Given the description of an element on the screen output the (x, y) to click on. 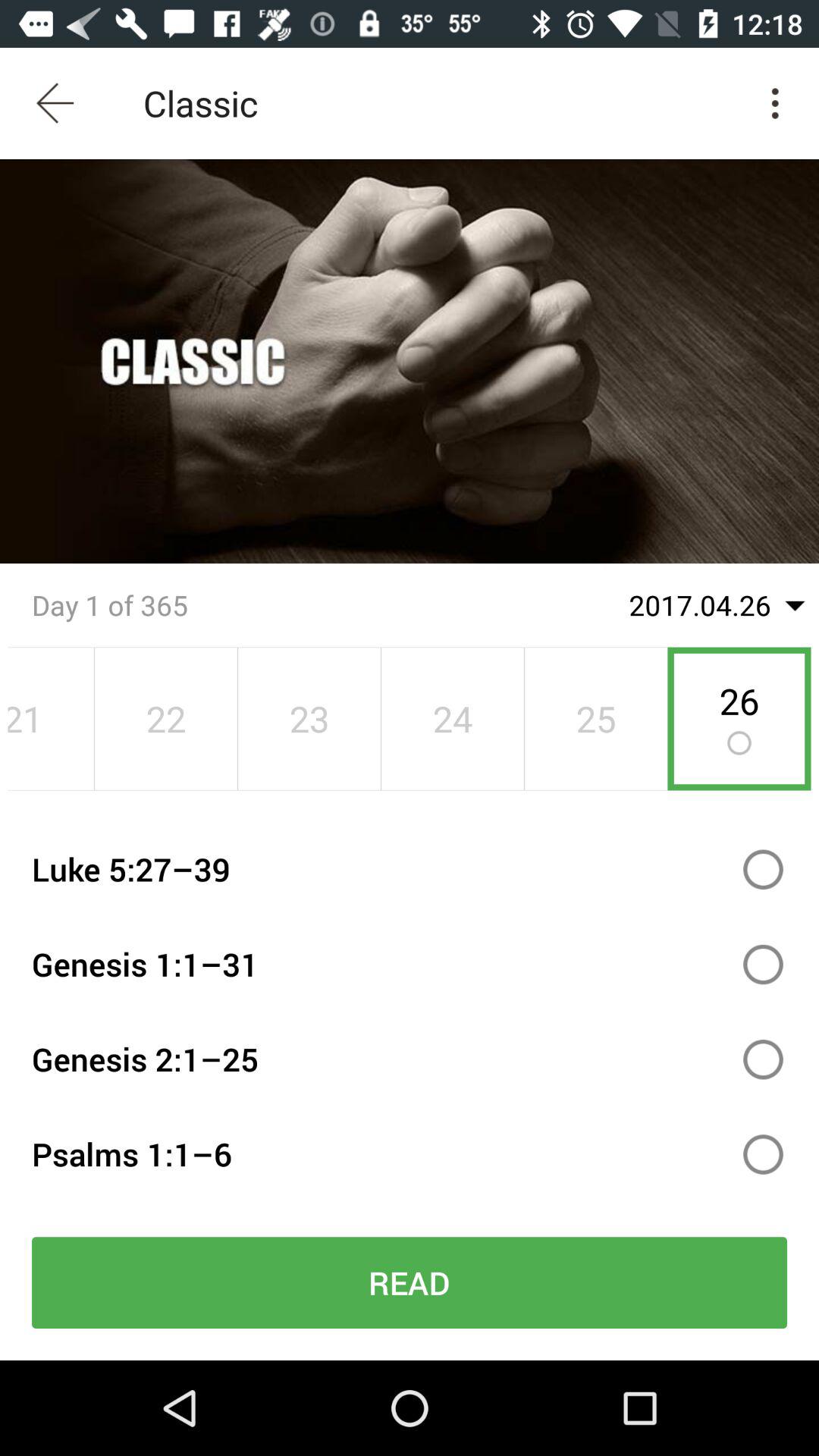
toggle select (763, 869)
